Given the description of an element on the screen output the (x, y) to click on. 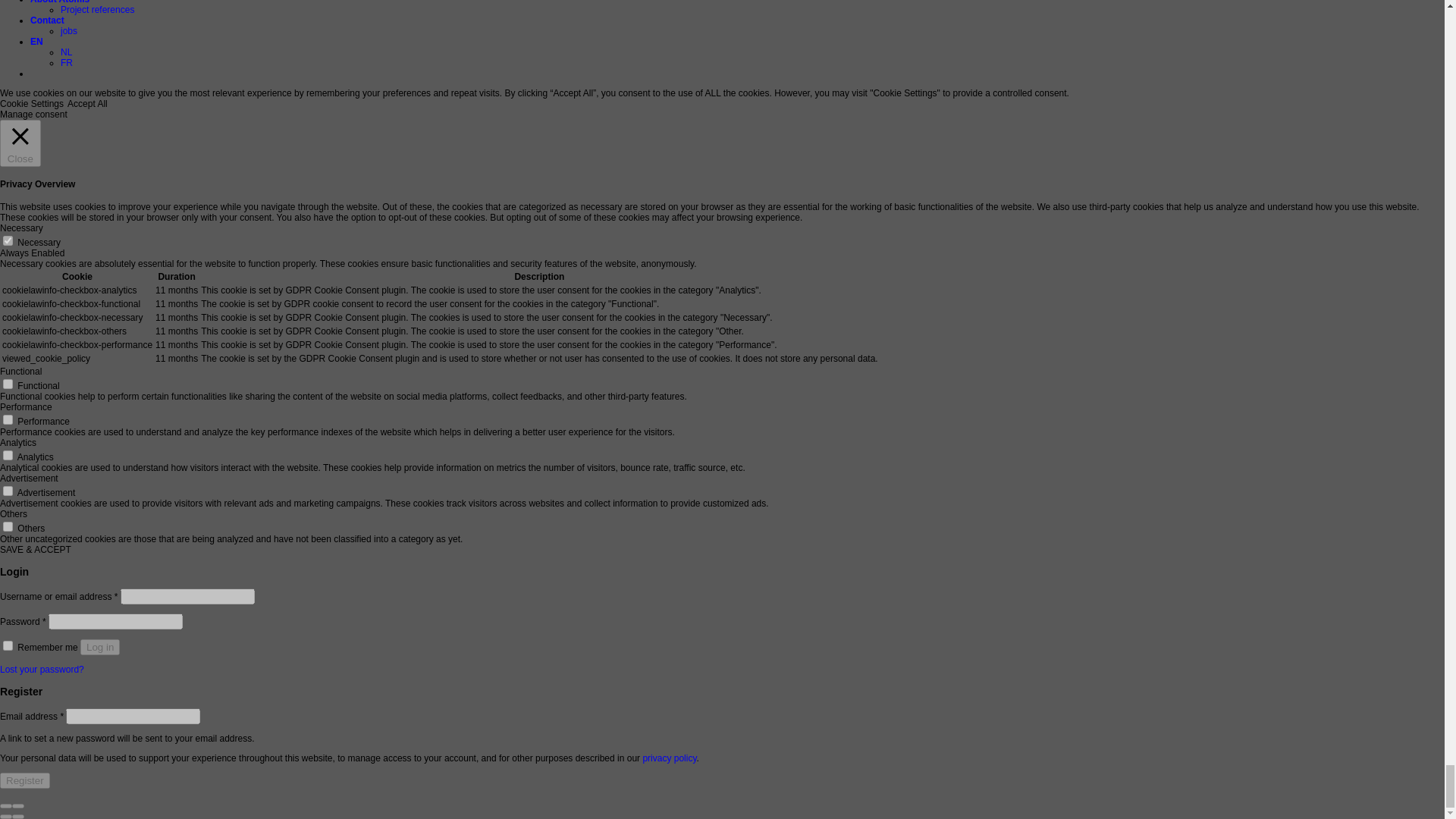
on (7, 240)
forever (7, 645)
on (7, 384)
on (7, 455)
on (7, 419)
on (7, 526)
on (7, 491)
